Given the description of an element on the screen output the (x, y) to click on. 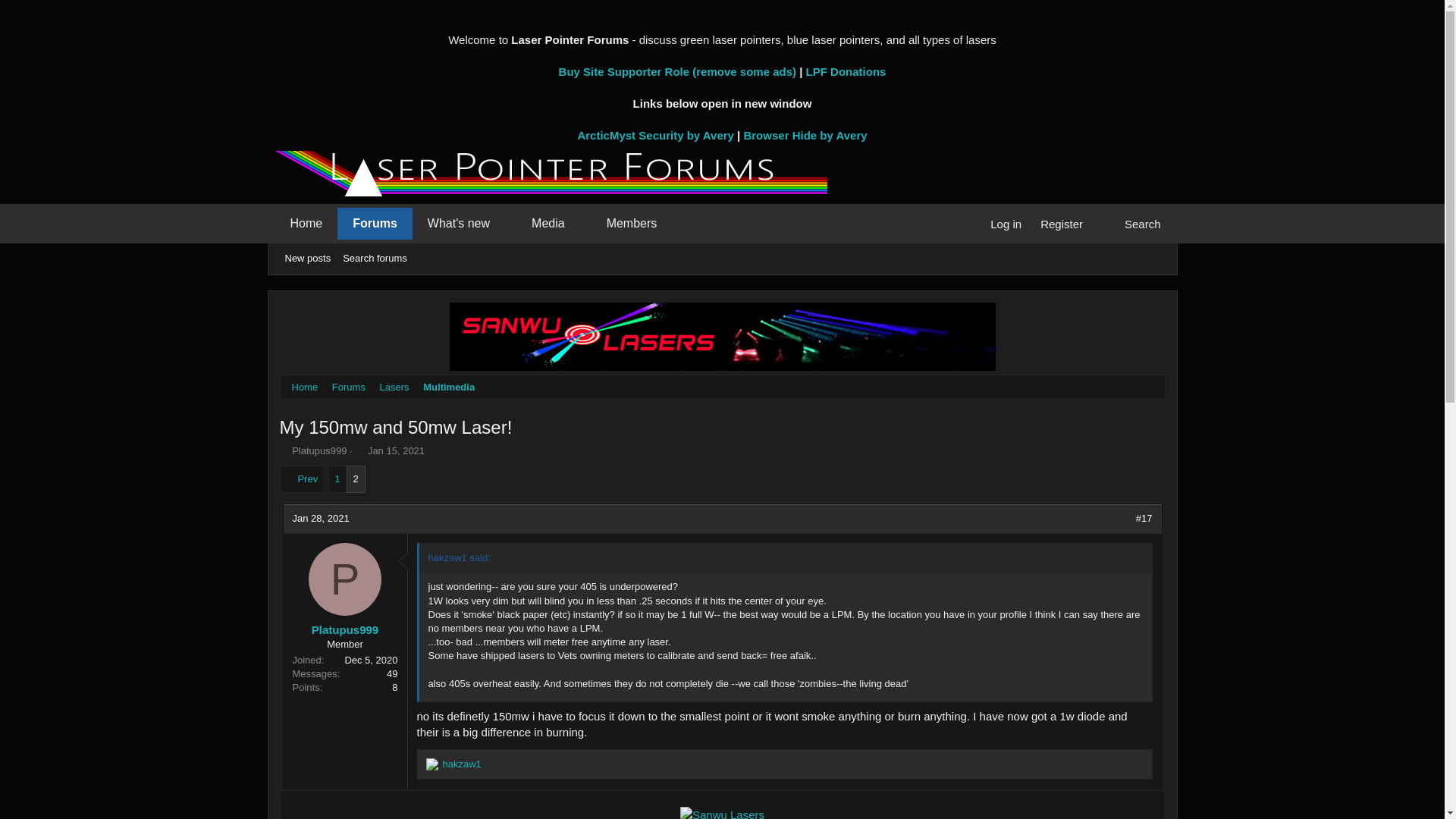
Forums (374, 223)
Media (541, 223)
Log in (1005, 223)
Browser Hide by Avery (804, 134)
New posts (308, 258)
Jan 15, 2021 at 9:39 PM (396, 450)
ArcticMyst Security by Avery (654, 134)
Start date (360, 450)
Sanwu Lasers (721, 812)
Search forums (374, 258)
